Given the description of an element on the screen output the (x, y) to click on. 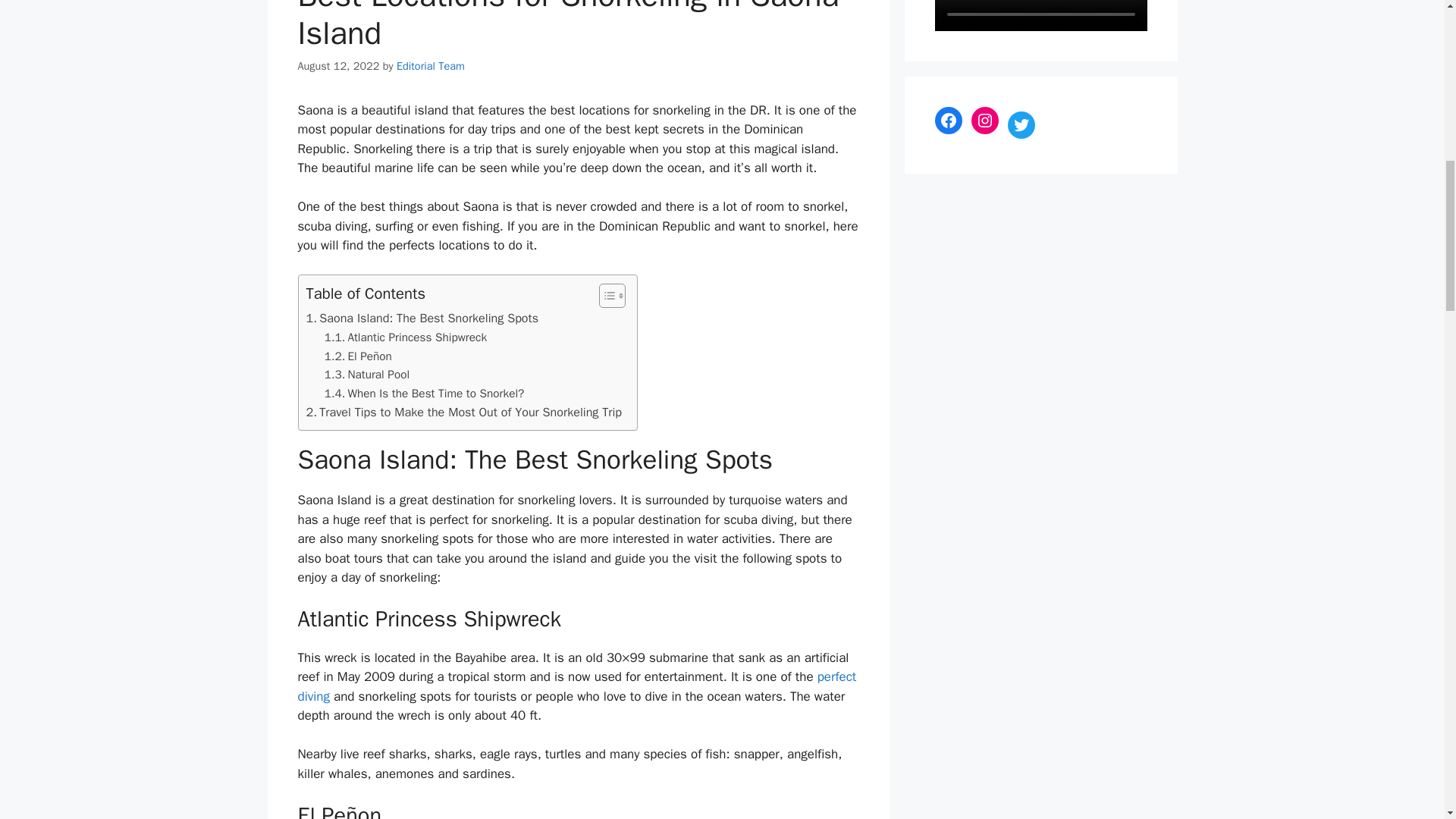
Atlantic Princess Shipwreck (405, 337)
Atlantic Princess Shipwreck (405, 337)
perfect diving (576, 686)
Saona Island: The Best Snorkeling Spots (421, 318)
Saona Island: The Best Snorkeling Spots (421, 318)
When Is the Best Time to Snorkel? (424, 393)
Travel Tips to Make the Most Out of Your Snorkeling Trip (464, 412)
Instagram (984, 119)
Facebook (947, 119)
When Is the Best Time to Snorkel? (424, 393)
